Given the description of an element on the screen output the (x, y) to click on. 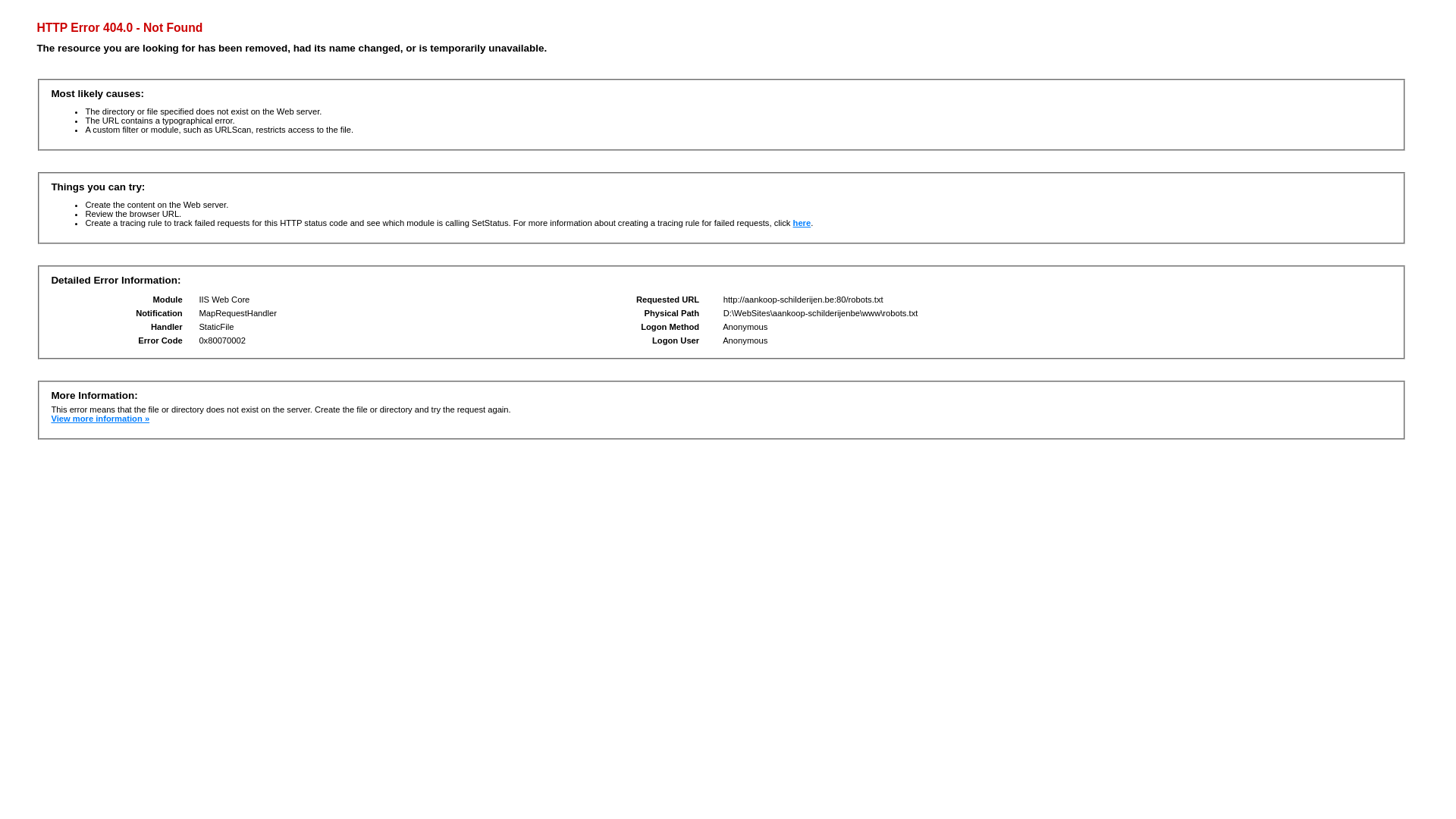
here Element type: text (802, 222)
